Given the description of an element on the screen output the (x, y) to click on. 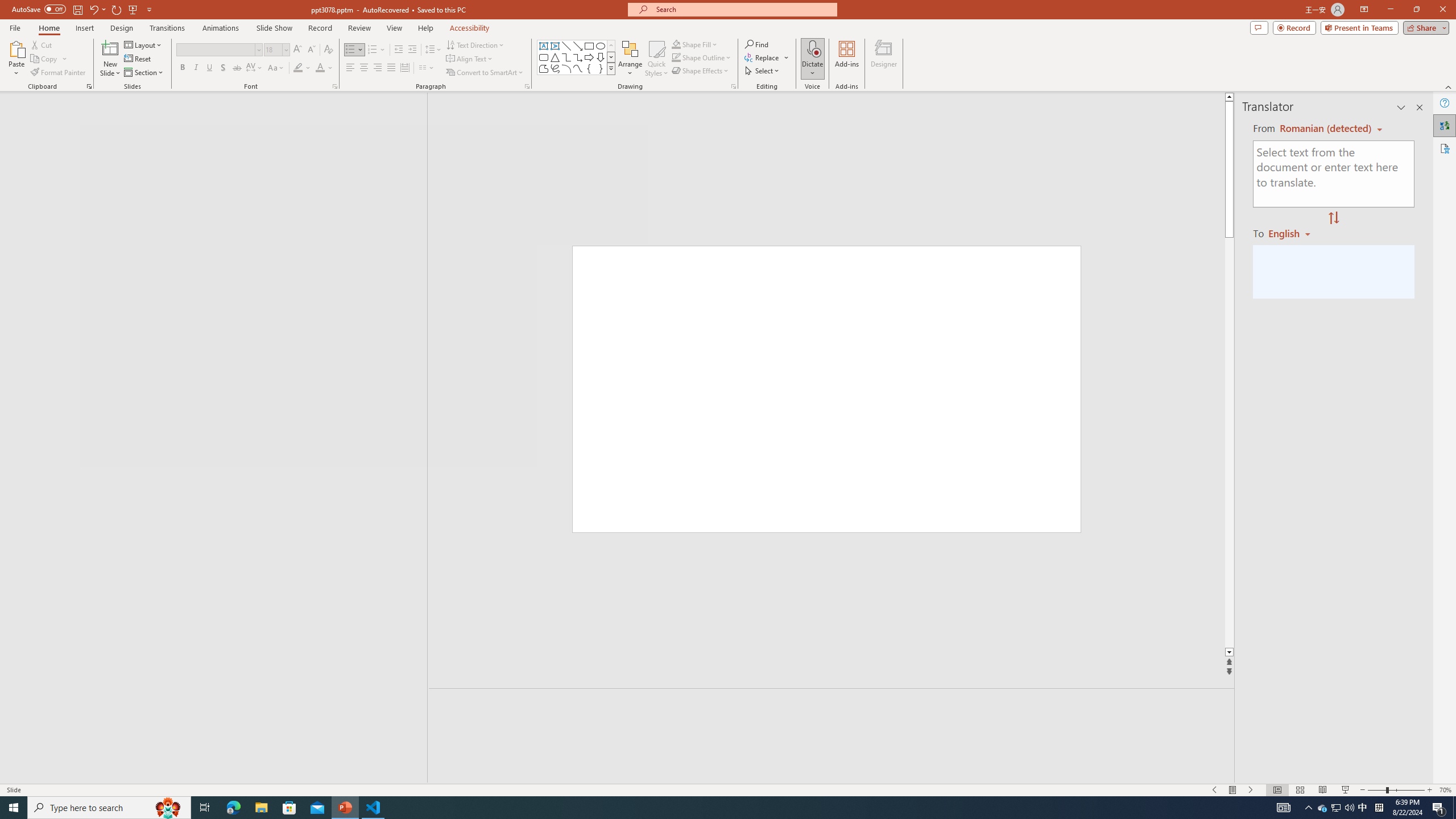
Format Painter (58, 72)
Justify (390, 67)
Decrease Indent (398, 49)
Rectangle: Rounded Corners (543, 57)
Copy (45, 58)
Design (122, 28)
Left Brace (589, 68)
Freeform: Scribble (554, 68)
Accessibility (1444, 147)
Layout (143, 44)
Line (566, 45)
Swap "from" and "to" languages. (1333, 218)
